Given the description of an element on the screen output the (x, y) to click on. 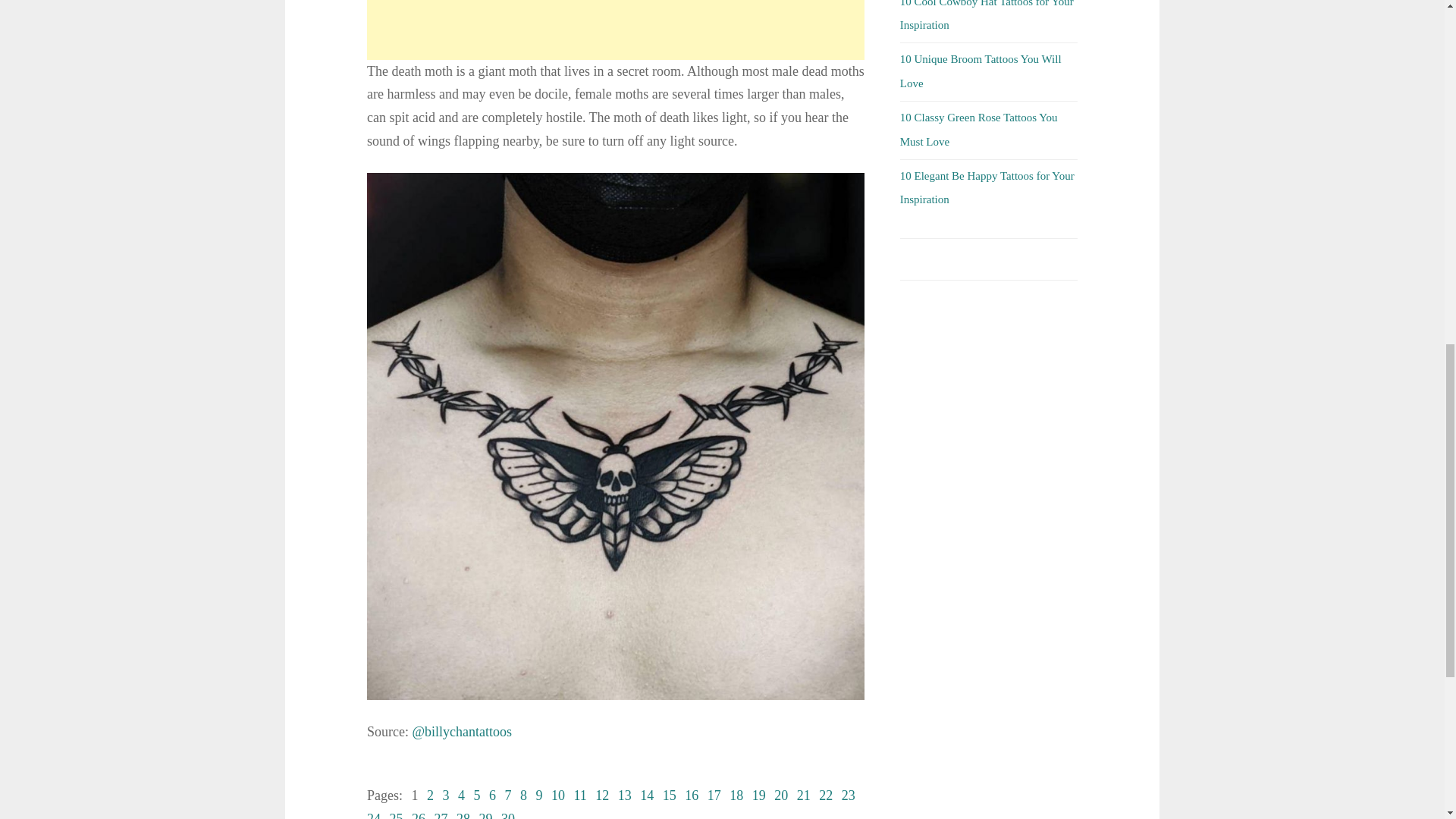
30 (507, 815)
17 (713, 795)
16 (691, 795)
27 (439, 815)
26 (418, 815)
Advertisement (615, 29)
22 (825, 795)
29 (486, 815)
25 (396, 815)
10 (557, 795)
